Given the description of an element on the screen output the (x, y) to click on. 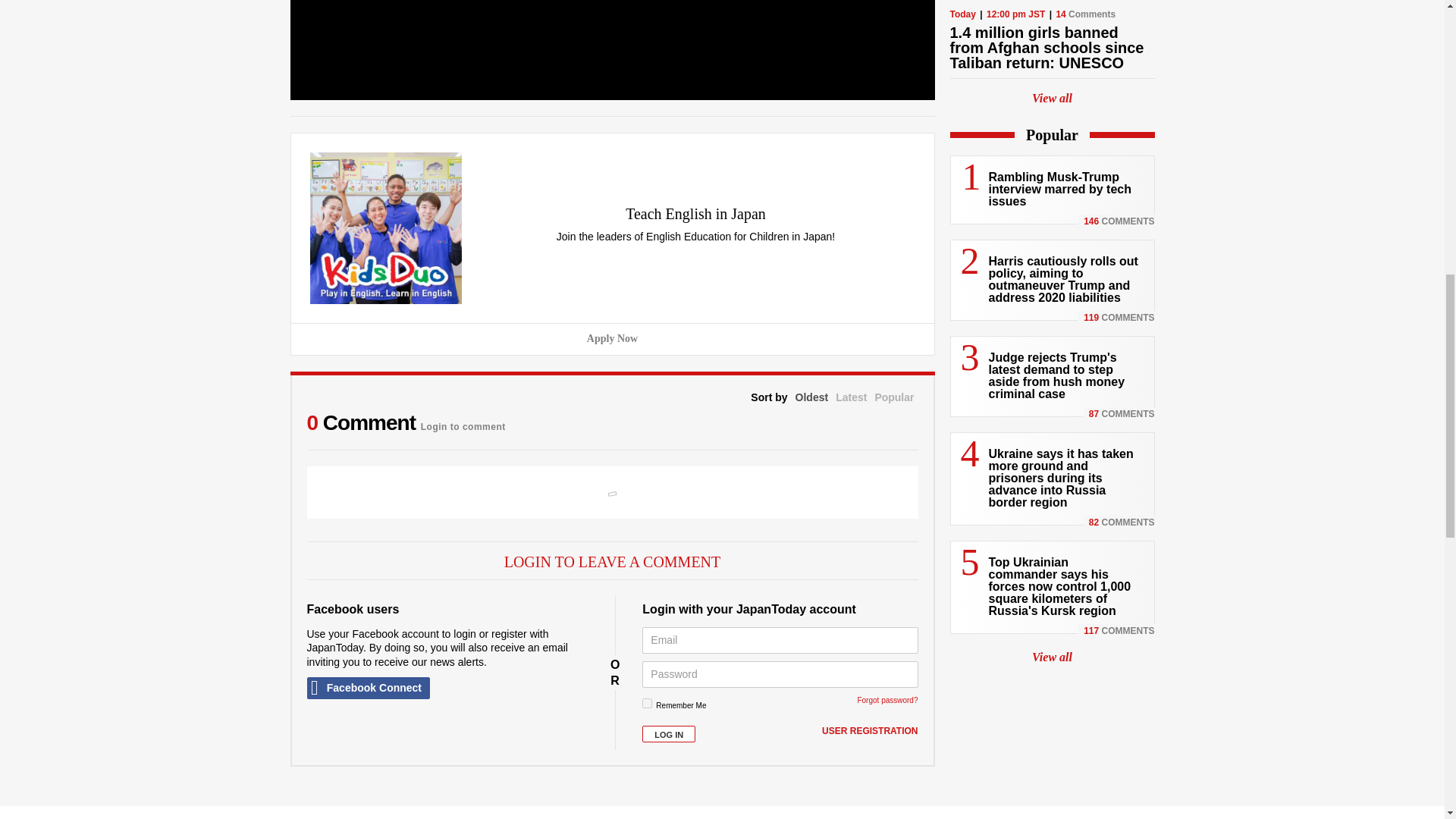
Forgot password? (887, 700)
Connect with Facebook (367, 688)
Rambling Musk-Trump interview marred by tech issues (1060, 189)
Log In (668, 733)
User registration (869, 731)
1 (647, 703)
Login to comment (462, 422)
